Given the description of an element on the screen output the (x, y) to click on. 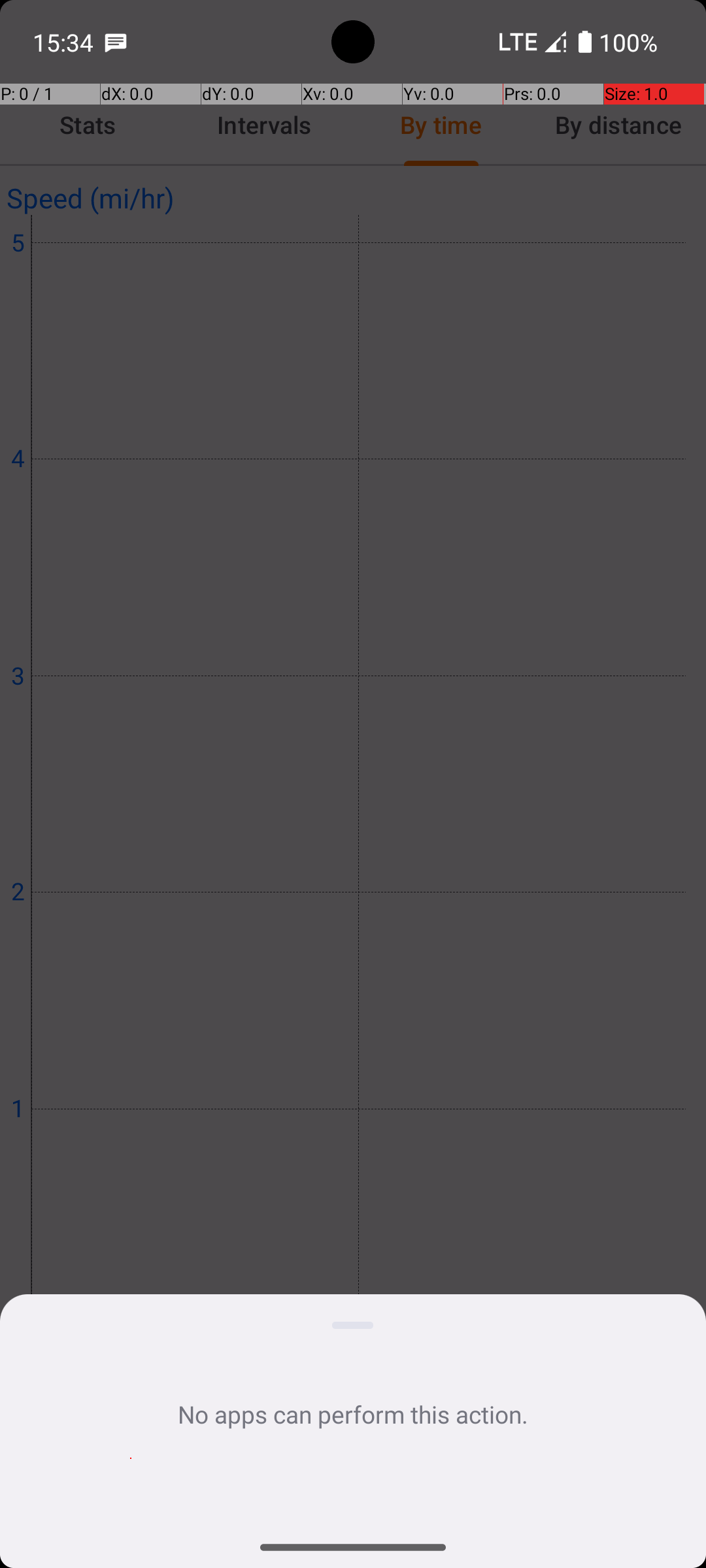
No apps can perform this action. Element type: android.widget.TextView (352, 1413)
